Given the description of an element on the screen output the (x, y) to click on. 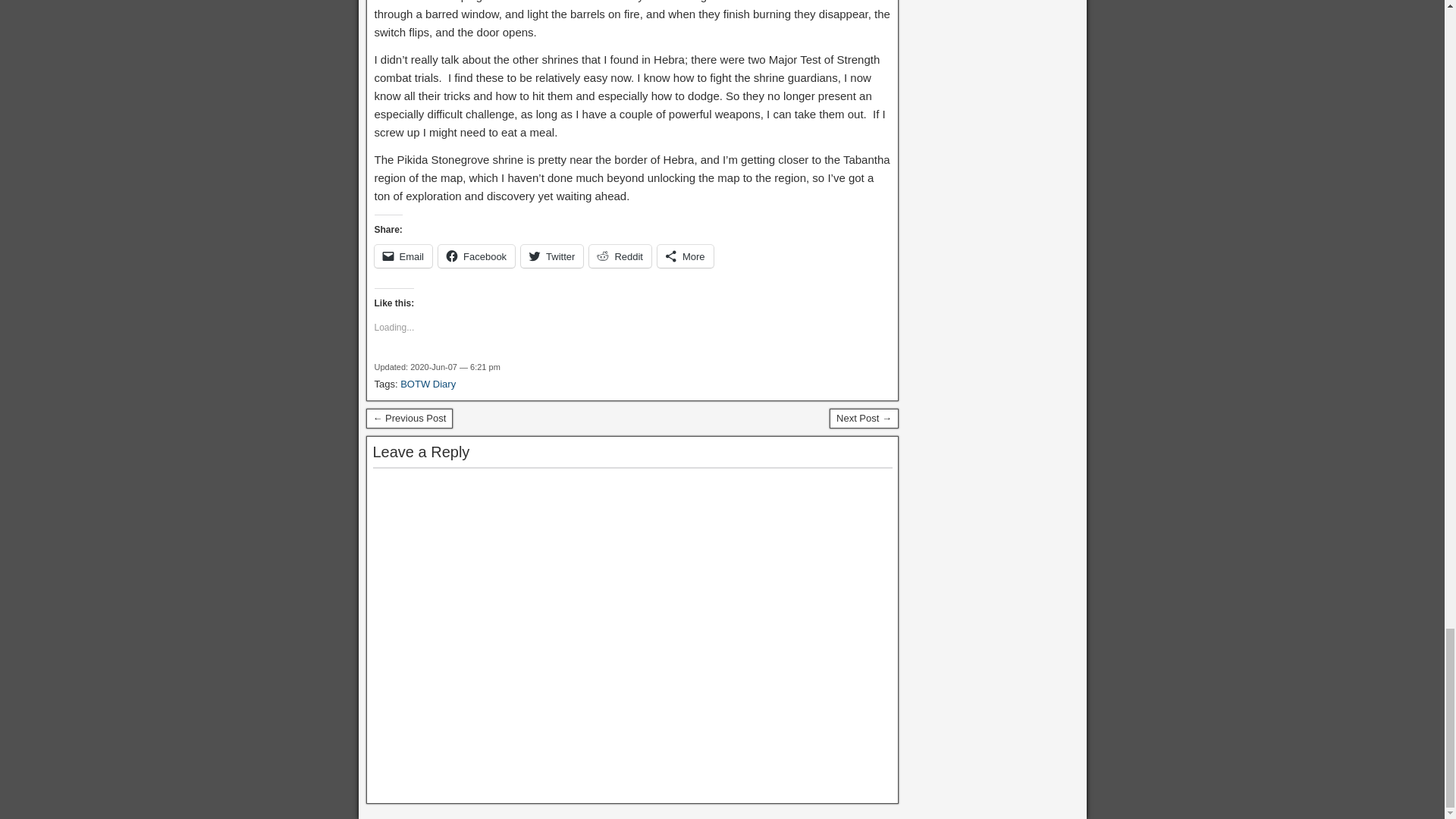
Click to share on Reddit (619, 255)
Click to share on Twitter (552, 255)
Click to email a link to a friend (403, 255)
Click to share on Facebook (476, 255)
